Given the description of an element on the screen output the (x, y) to click on. 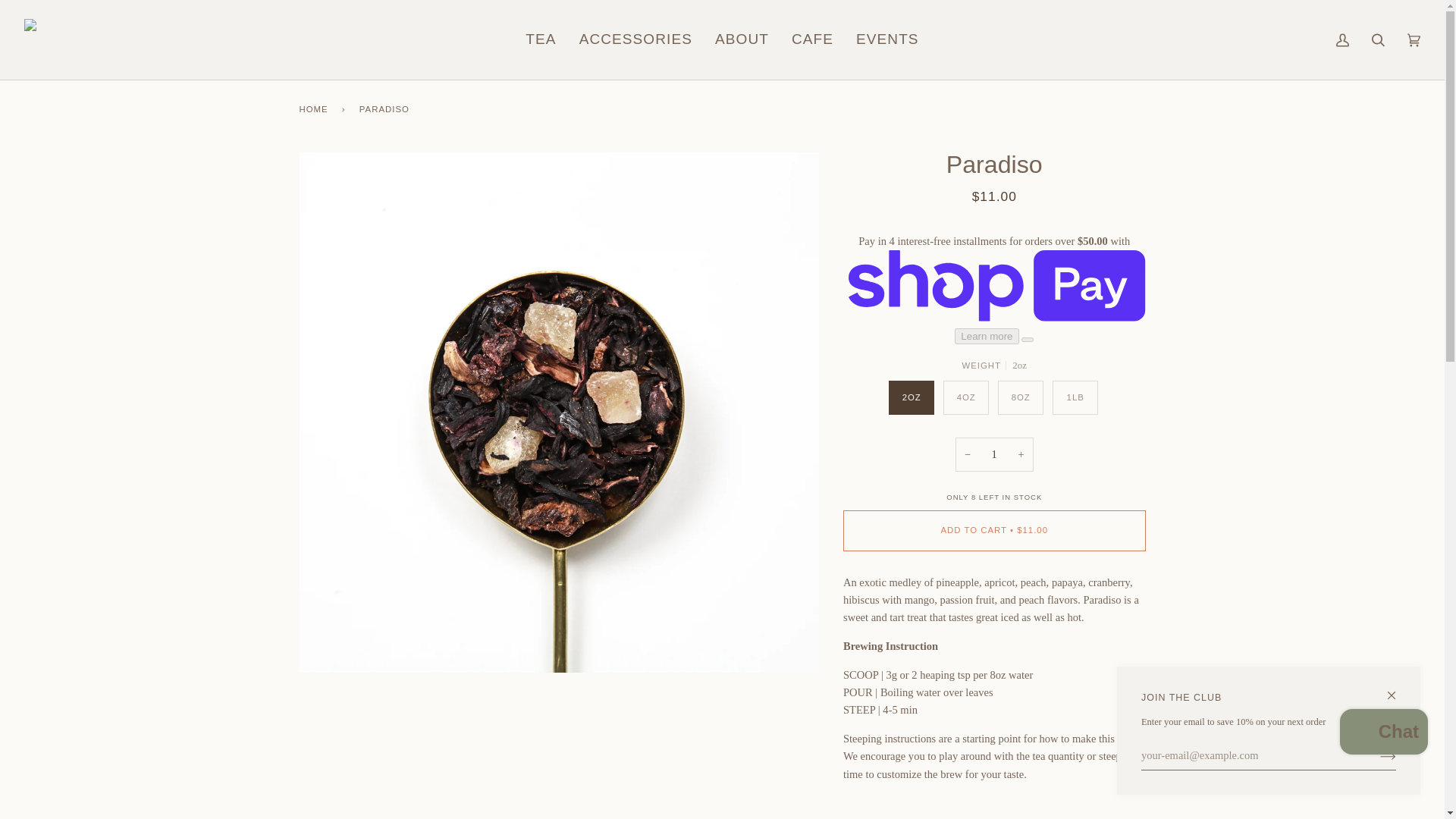
Back to the frontpage (315, 108)
1 (994, 454)
Shopify online store chat (1383, 733)
Close (1398, 688)
